Given the description of an element on the screen output the (x, y) to click on. 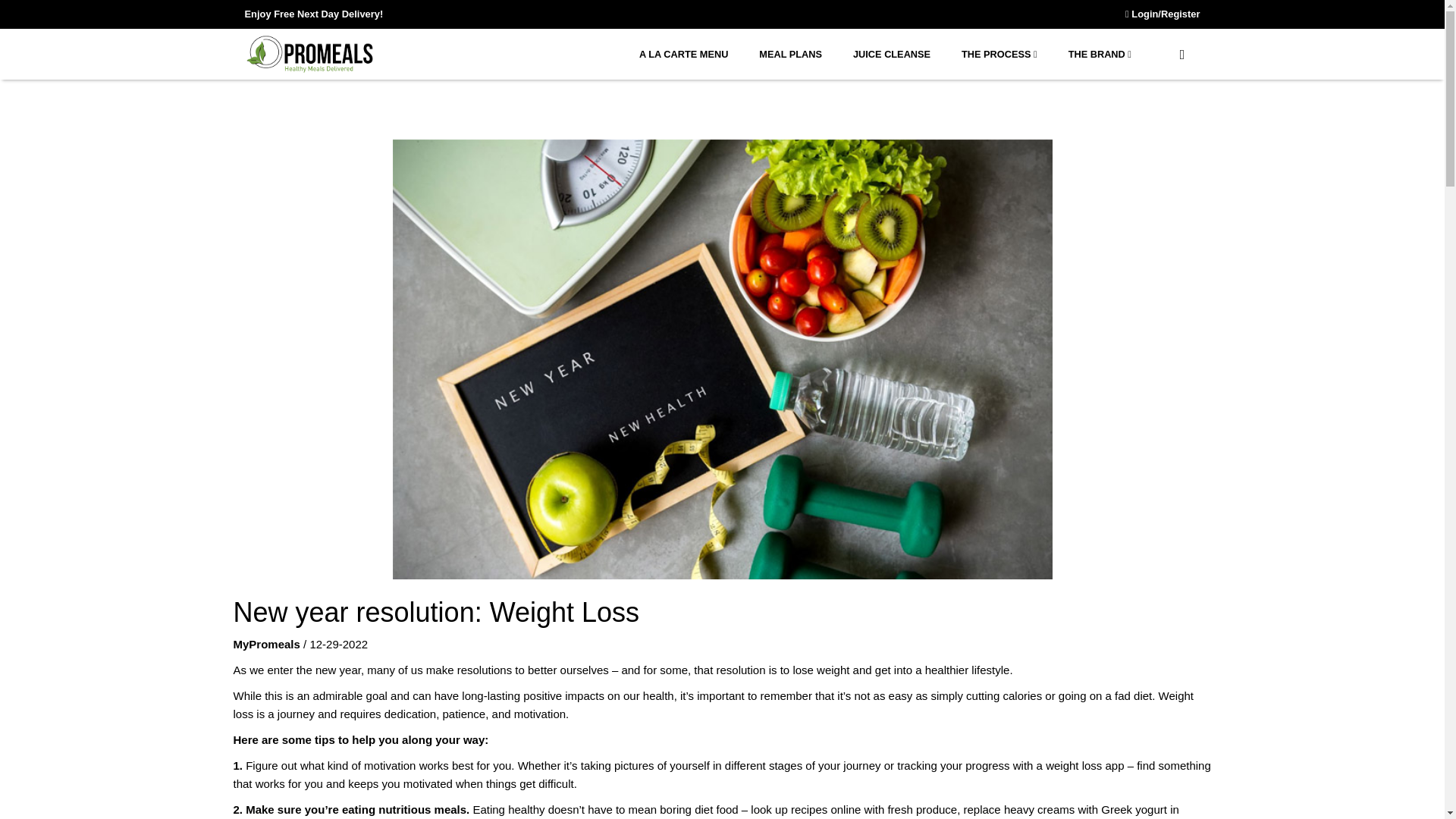
Enjoy Free Next Day Delivery! (313, 13)
About Promeals (1099, 54)
A La Carte Menu (682, 54)
THE PROCESS (999, 54)
A LA CARTE MENU (682, 54)
NEW Juice Cleanse (892, 54)
JUICE CLEANSE (892, 54)
Delivering 7 DAYS a week and Shipping Monday-Friday (313, 13)
New Meal Plan Subscription Service (791, 54)
Account Login (1162, 13)
